Given the description of an element on the screen output the (x, y) to click on. 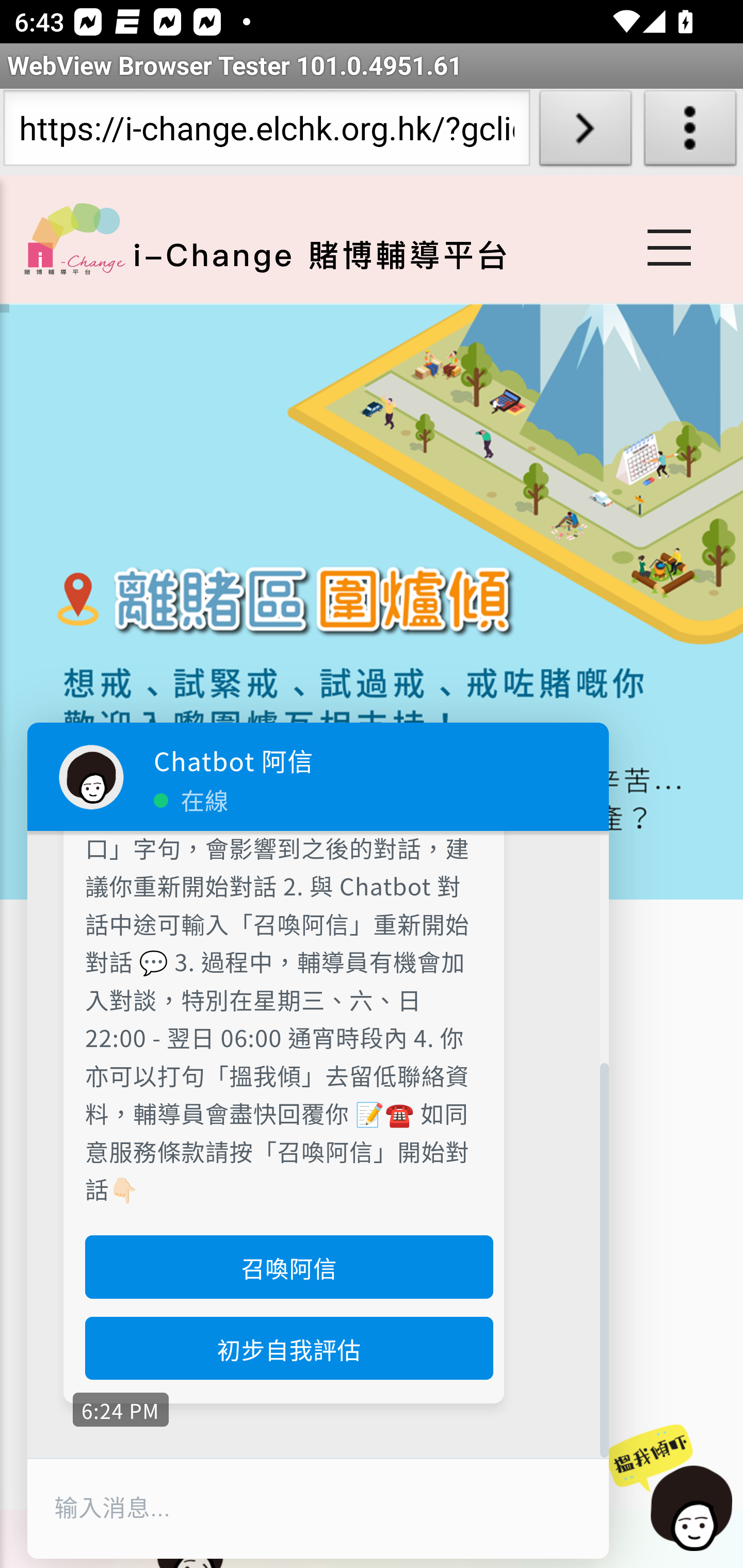
Load URL (585, 132)
About WebView (690, 132)
Home (74, 238)
Chat Now (672, 1488)
